Given the description of an element on the screen output the (x, y) to click on. 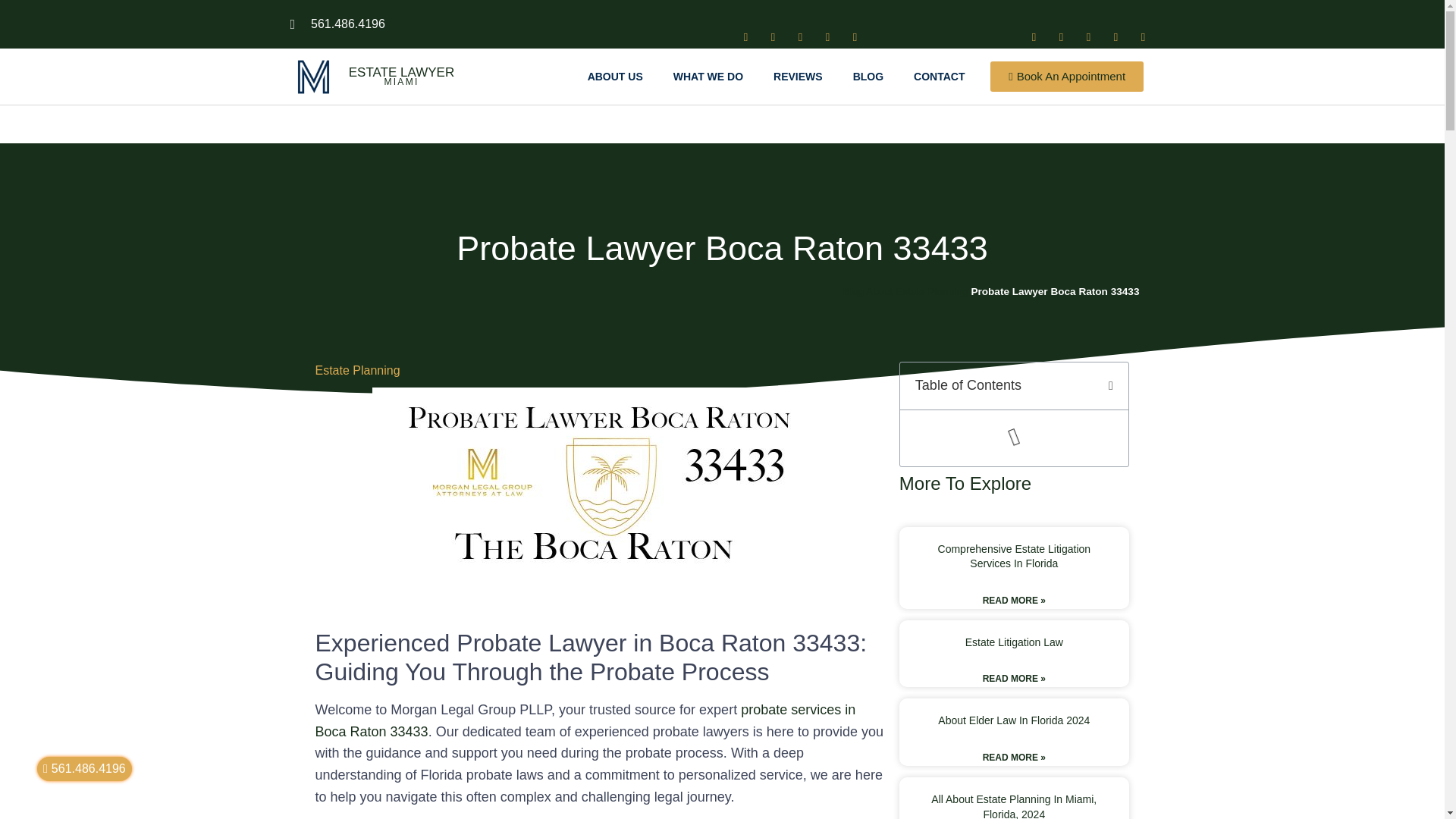
BLOG (868, 76)
Book An Appointment (1066, 76)
561.486.4196 (336, 24)
MIAMI (401, 81)
561.486.4196 (84, 768)
Estate Planning (357, 369)
probate services in Boca Raton 33433 (585, 720)
Blog About Estate Planning (905, 291)
REVIEWS (798, 76)
ESTATE LAWYER (401, 72)
